Given the description of an element on the screen output the (x, y) to click on. 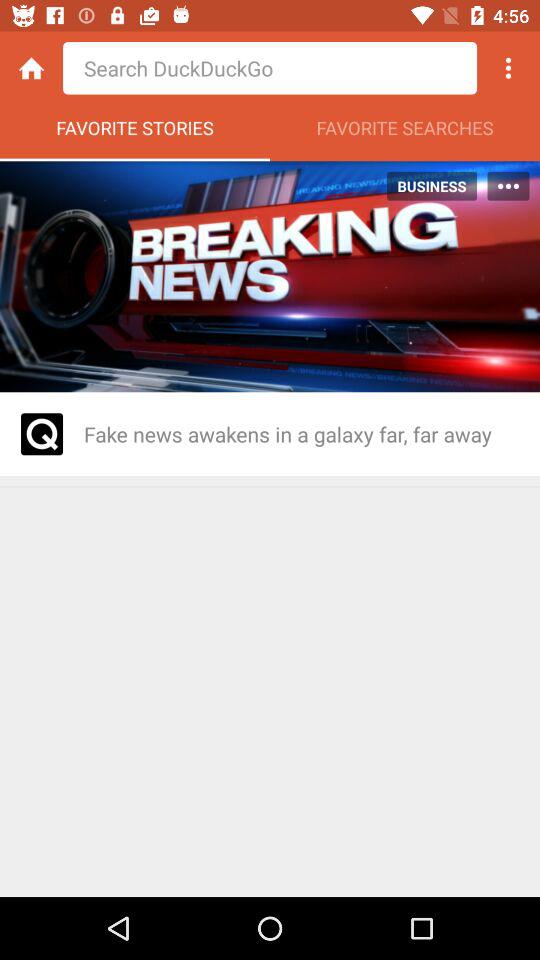
launch the item above favorite stories item (31, 68)
